Given the description of an element on the screen output the (x, y) to click on. 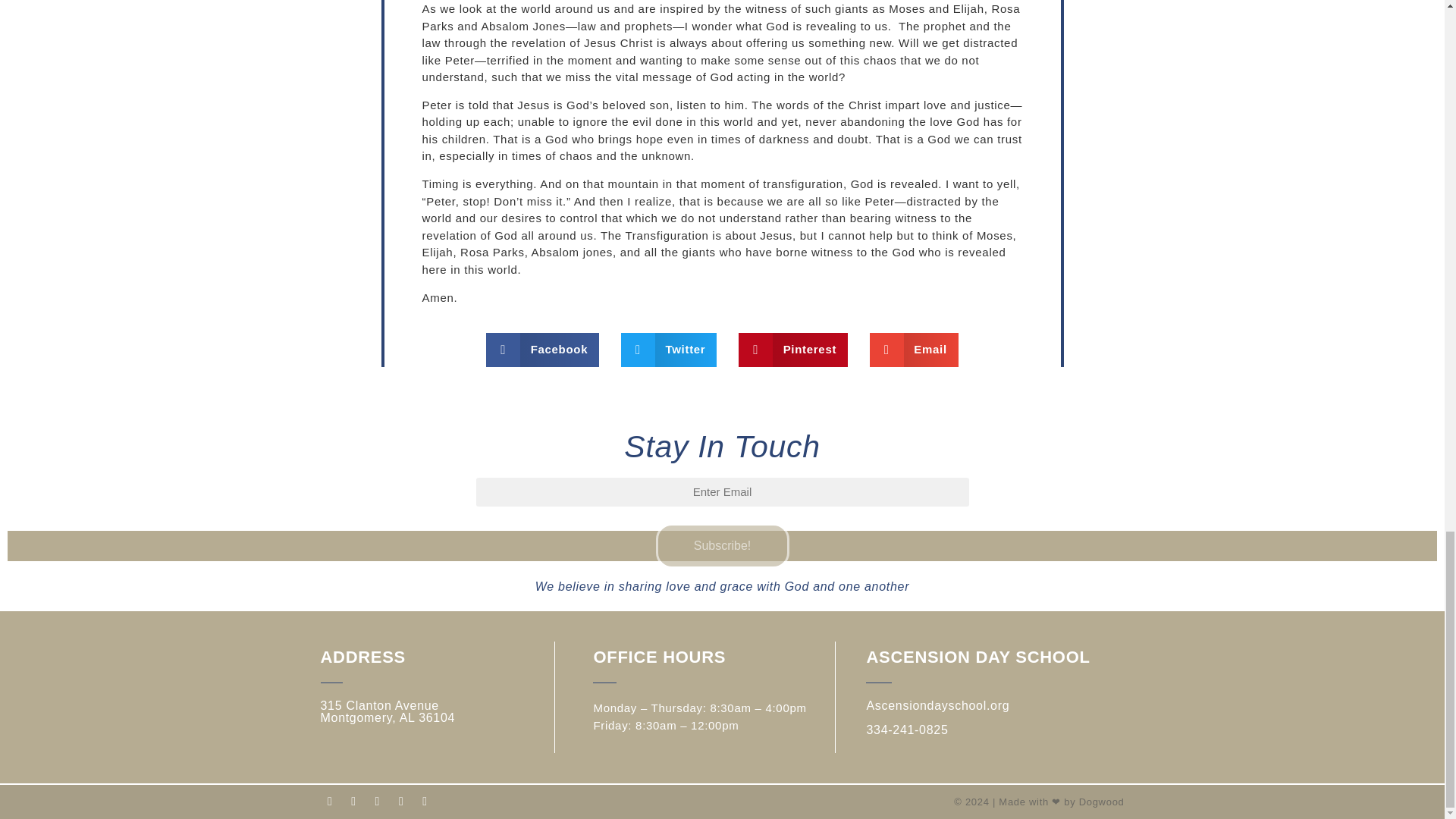
Subscribe! (722, 545)
